Given the description of an element on the screen output the (x, y) to click on. 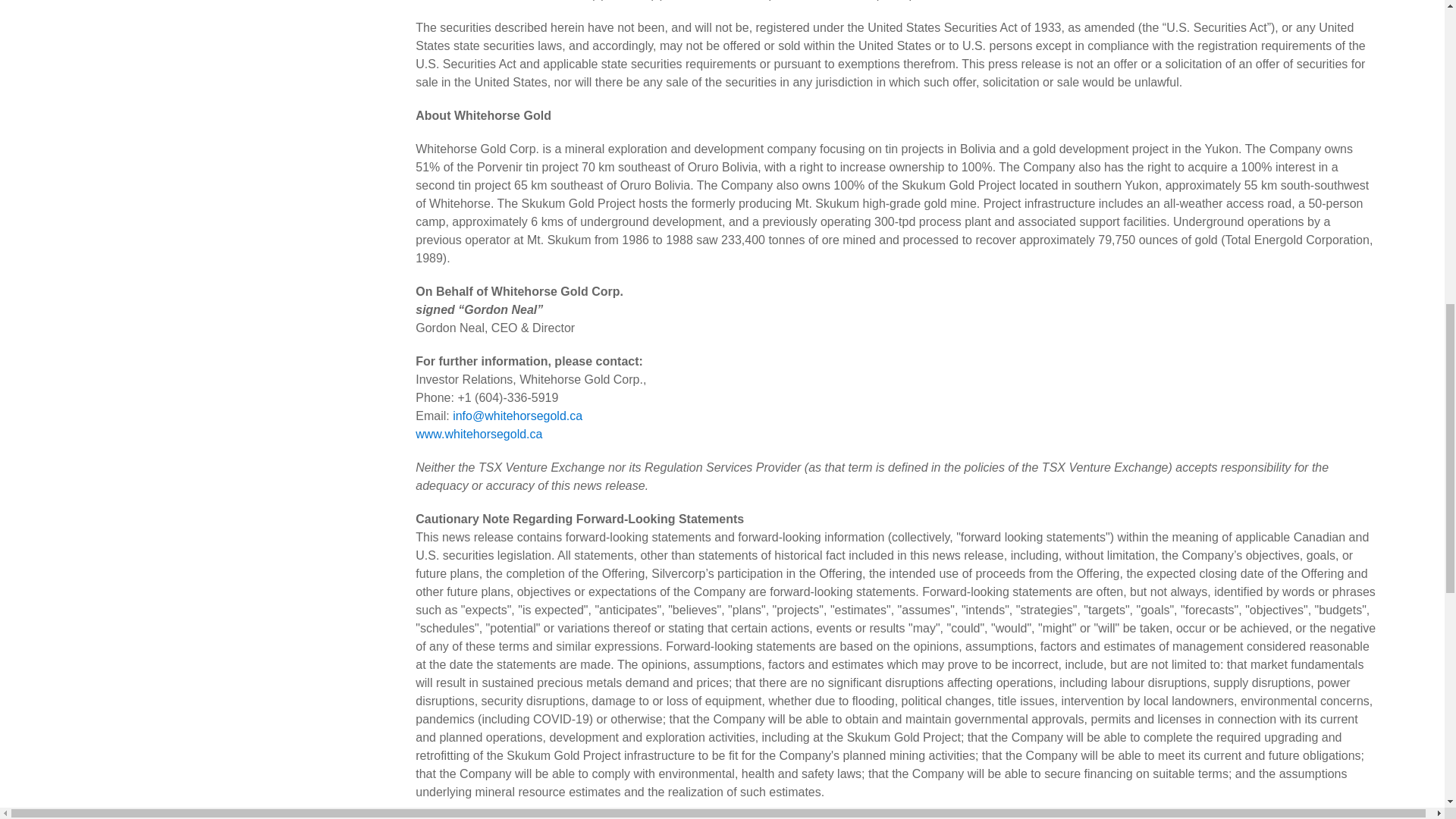
www.whitehorsegold.ca (477, 433)
